Given the description of an element on the screen output the (x, y) to click on. 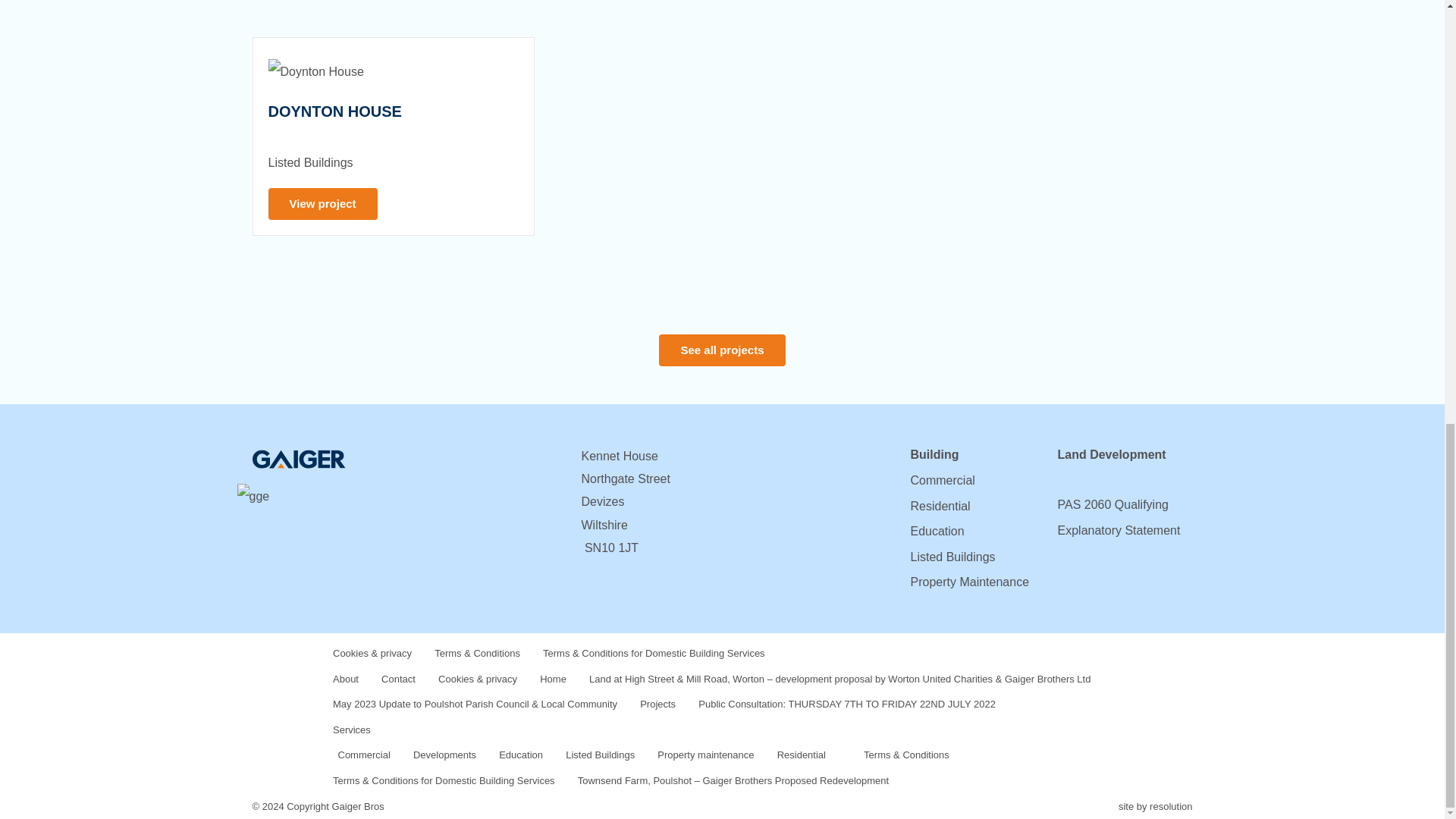
About (345, 679)
See all projects (721, 350)
PAS 2060 Qualifying Explanatory Statement (1118, 517)
Listed Buildings (952, 556)
Education (936, 530)
Projects (657, 704)
Land Development (1111, 454)
Property Maintenance (969, 581)
Building (934, 454)
Doynton House (334, 111)
